Given the description of an element on the screen output the (x, y) to click on. 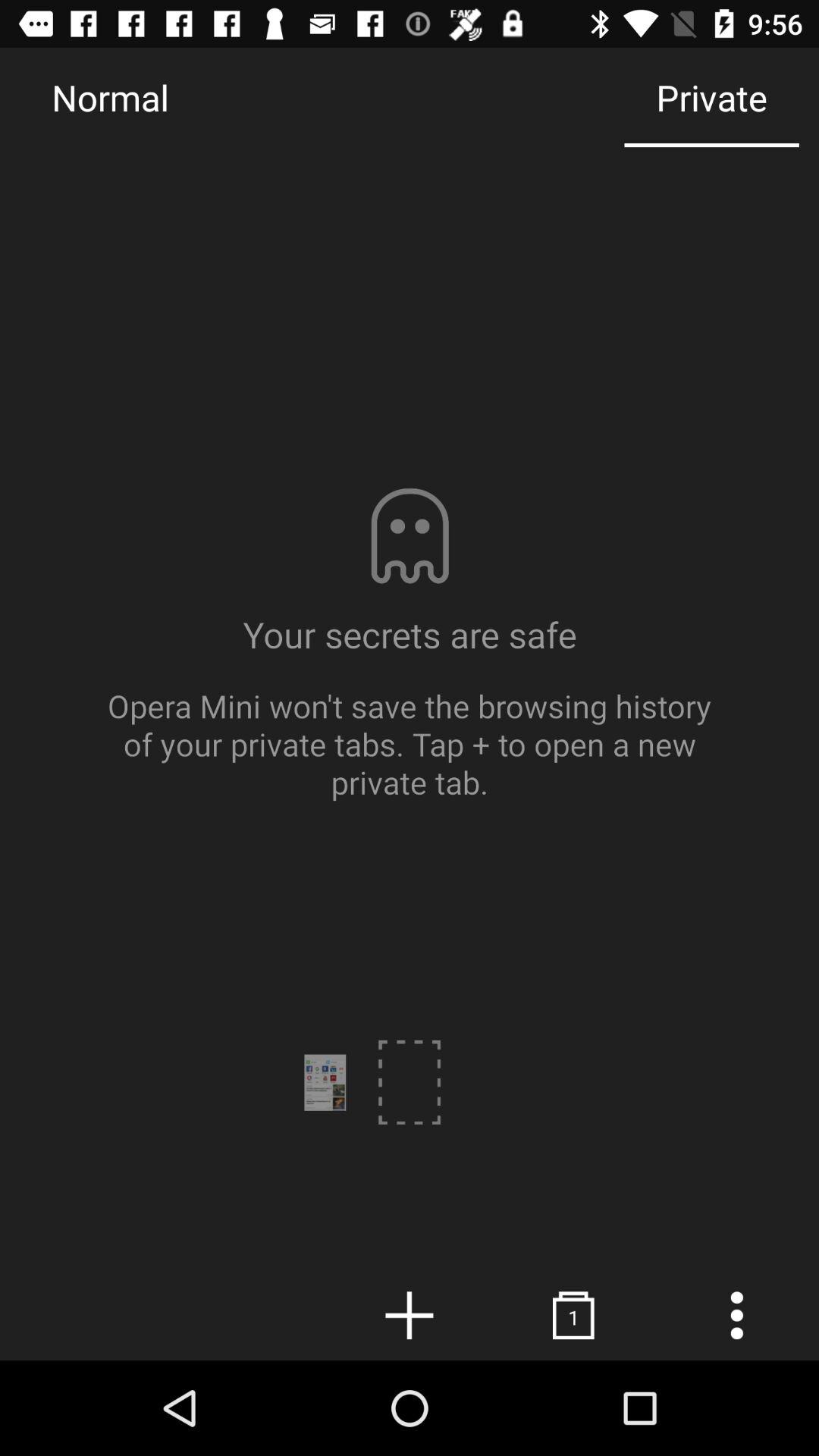
press icon to the right of the normal item (711, 97)
